Given the description of an element on the screen output the (x, y) to click on. 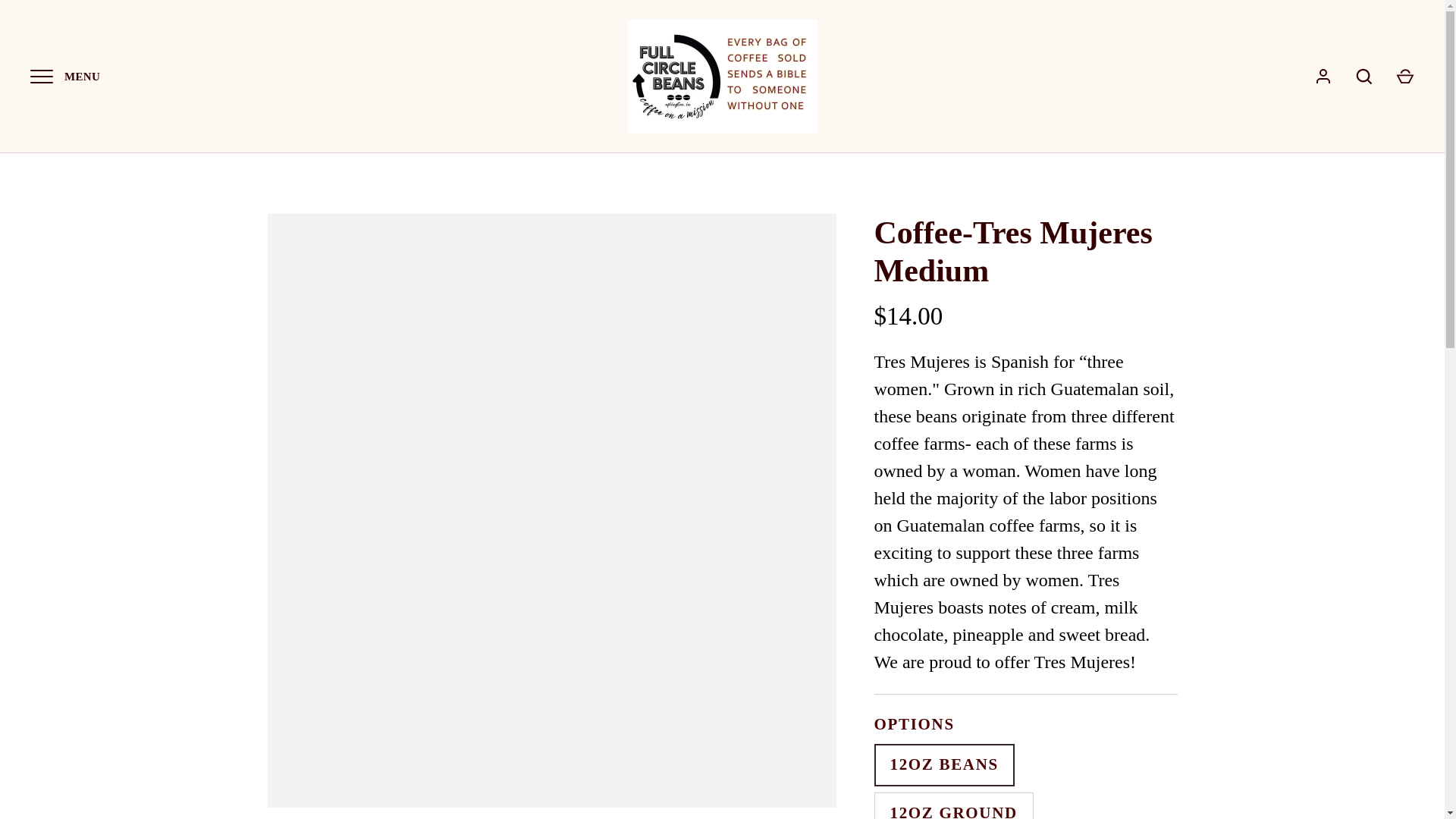
MENU (41, 76)
